Given the description of an element on the screen output the (x, y) to click on. 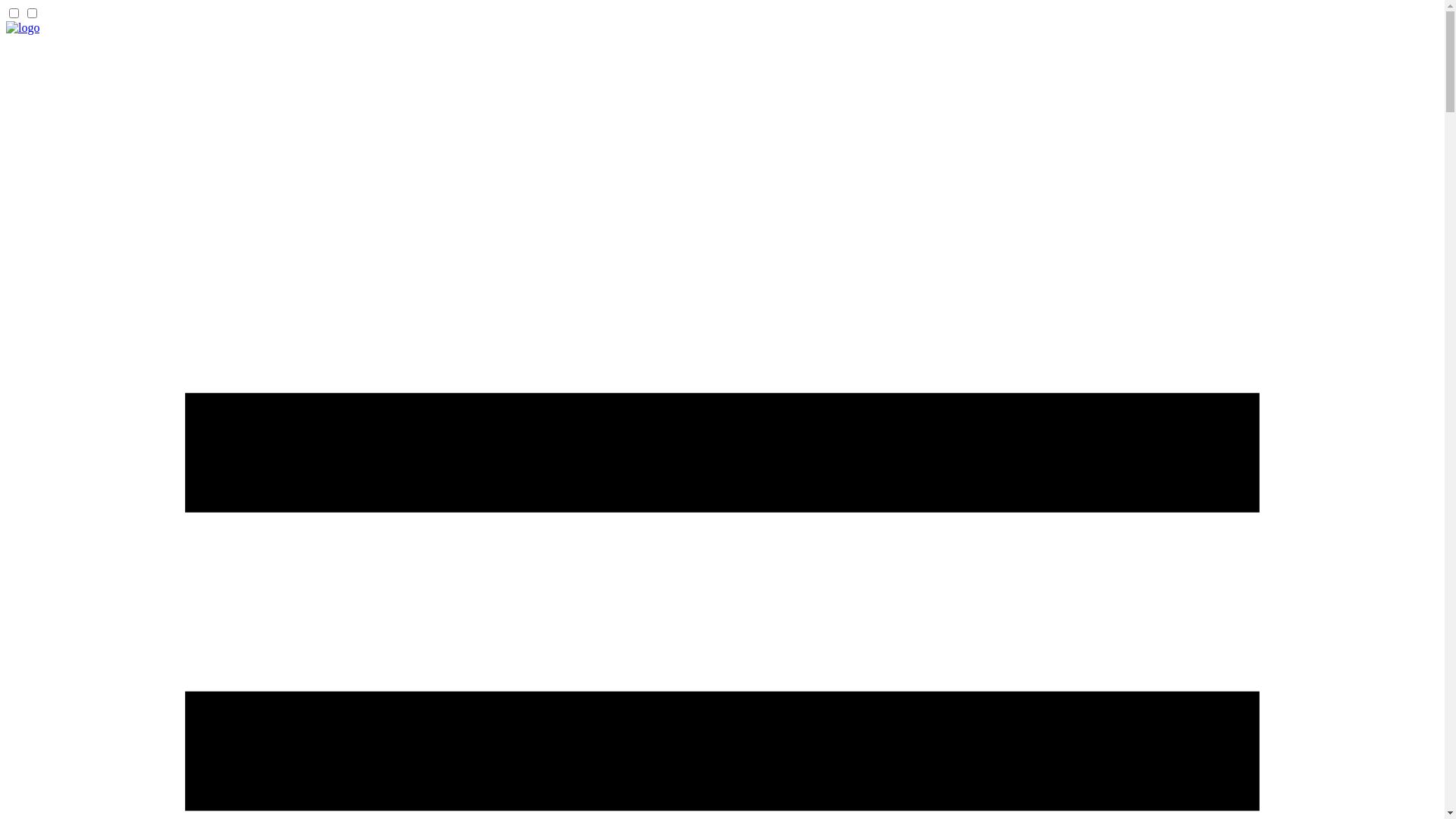
COS2000 Element type: hover (22, 27)
